Given the description of an element on the screen output the (x, y) to click on. 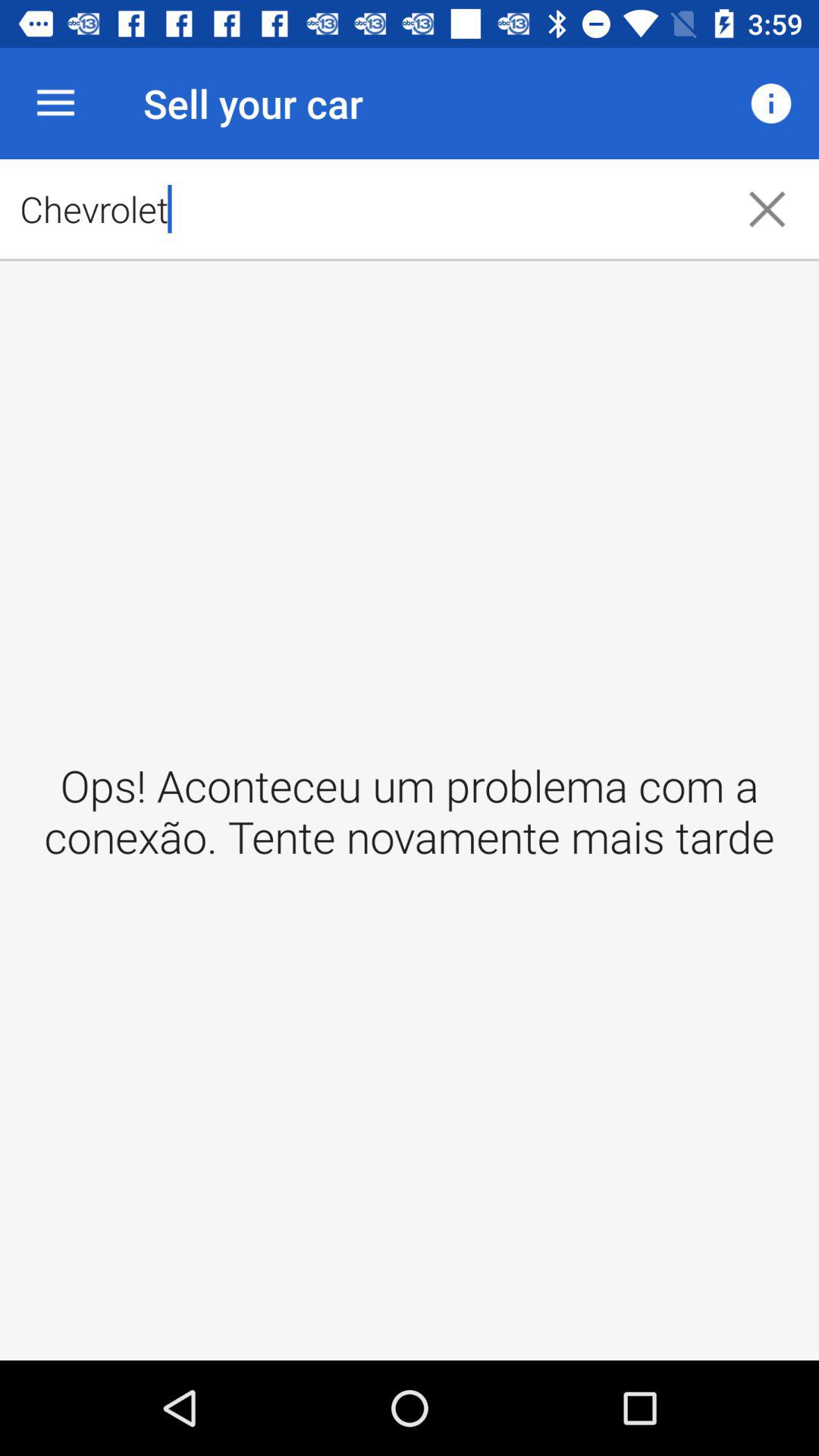
turn off the item above chevrolet item (55, 103)
